Given the description of an element on the screen output the (x, y) to click on. 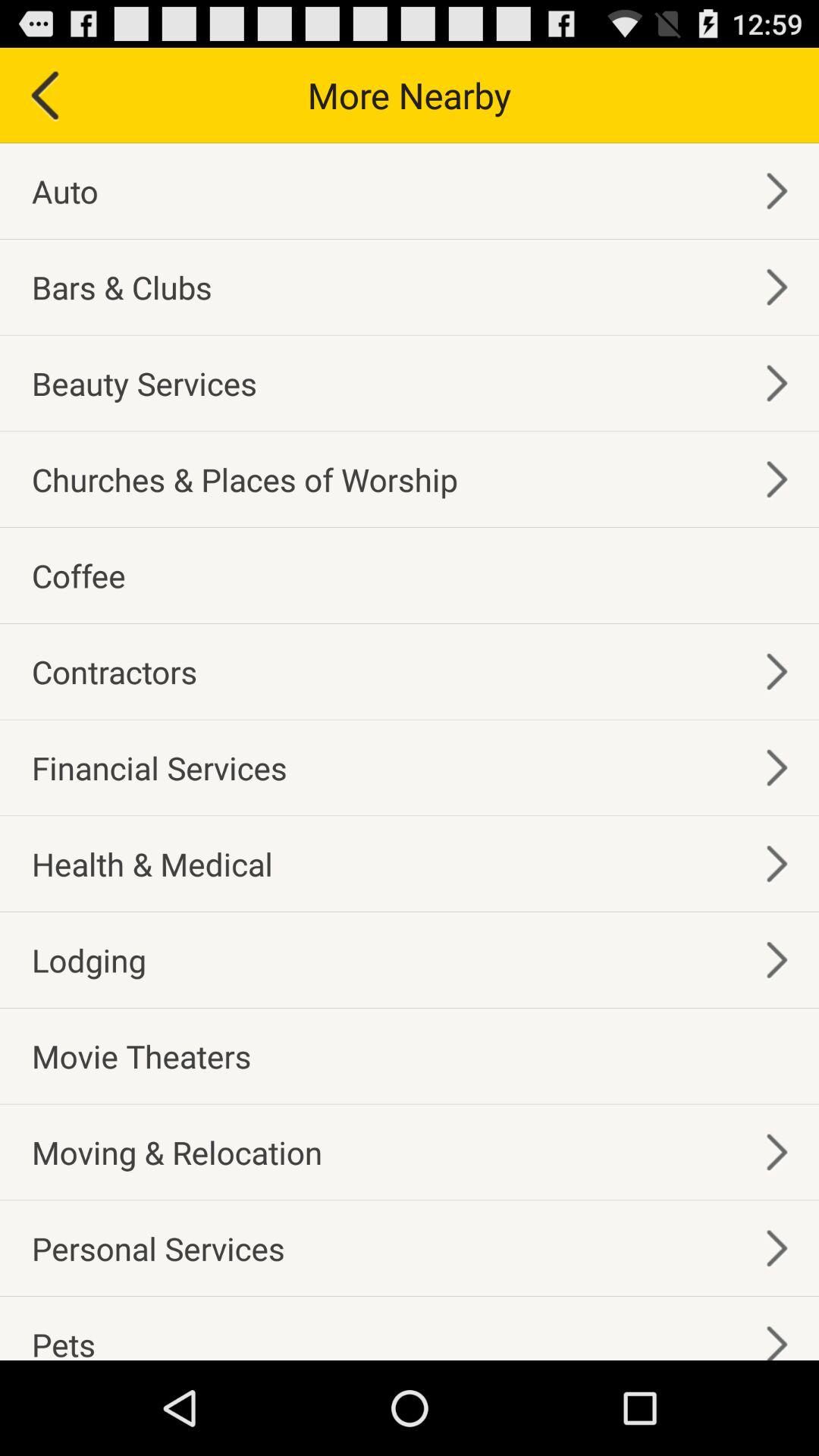
flip until churches places of item (244, 479)
